Given the description of an element on the screen output the (x, y) to click on. 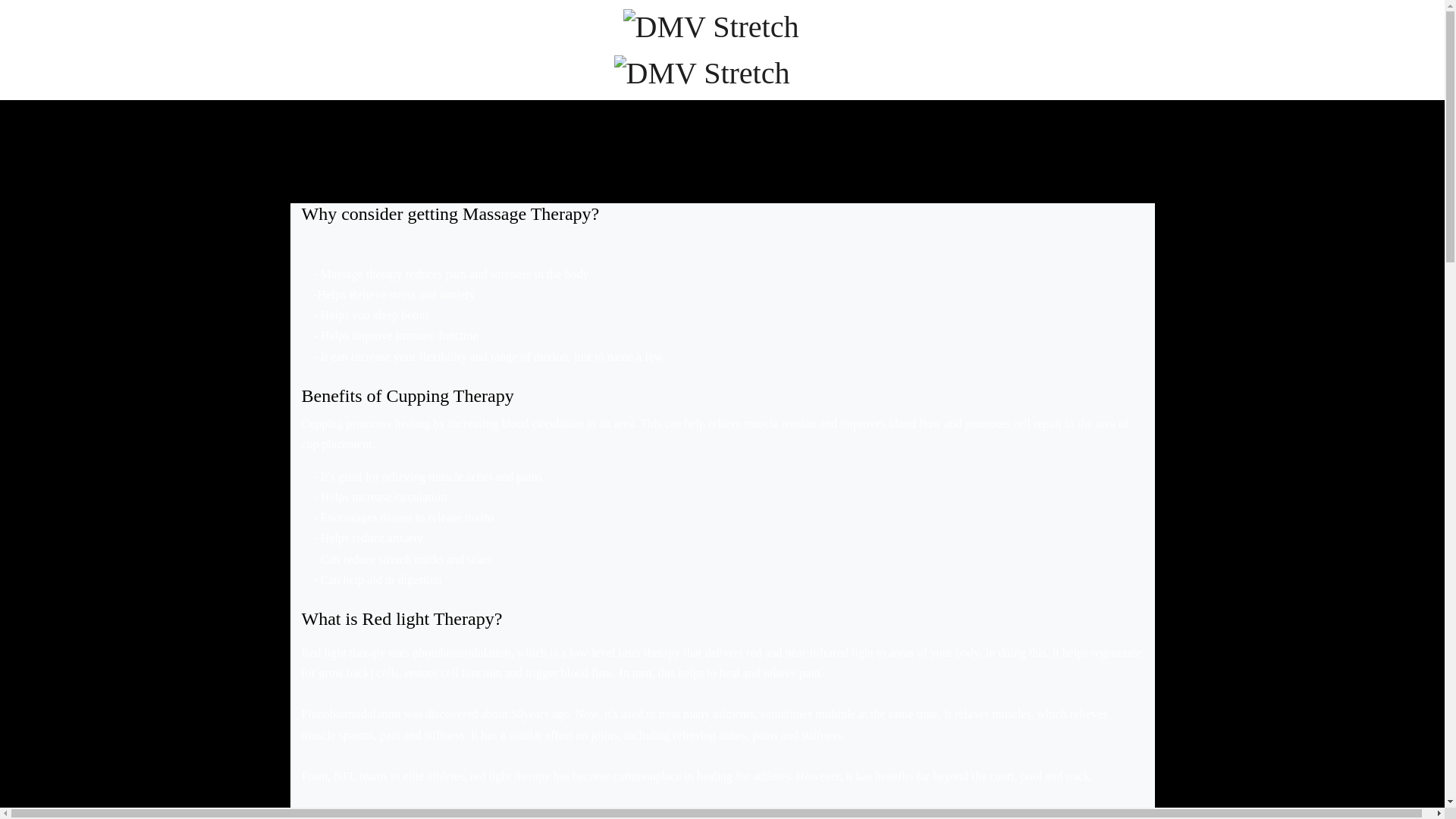
About (873, 37)
Contact (1051, 37)
Home (405, 37)
Services (470, 37)
Products (540, 37)
